Given the description of an element on the screen output the (x, y) to click on. 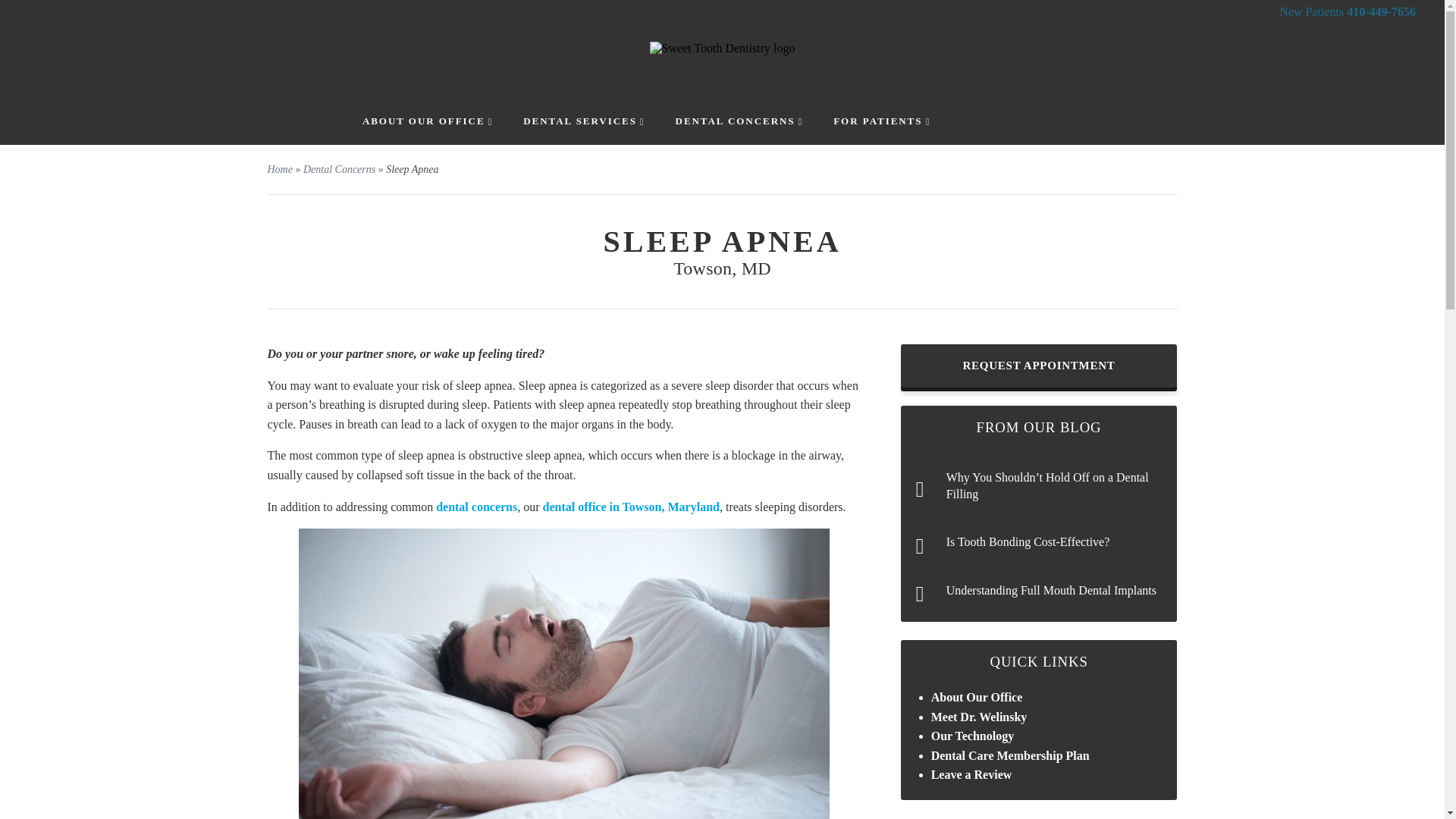
DENTAL CONCERNS (739, 120)
DENTAL SERVICES (583, 120)
ABOUT OUR OFFICE (427, 120)
FOR PATIENTS (881, 120)
